Given the description of an element on the screen output the (x, y) to click on. 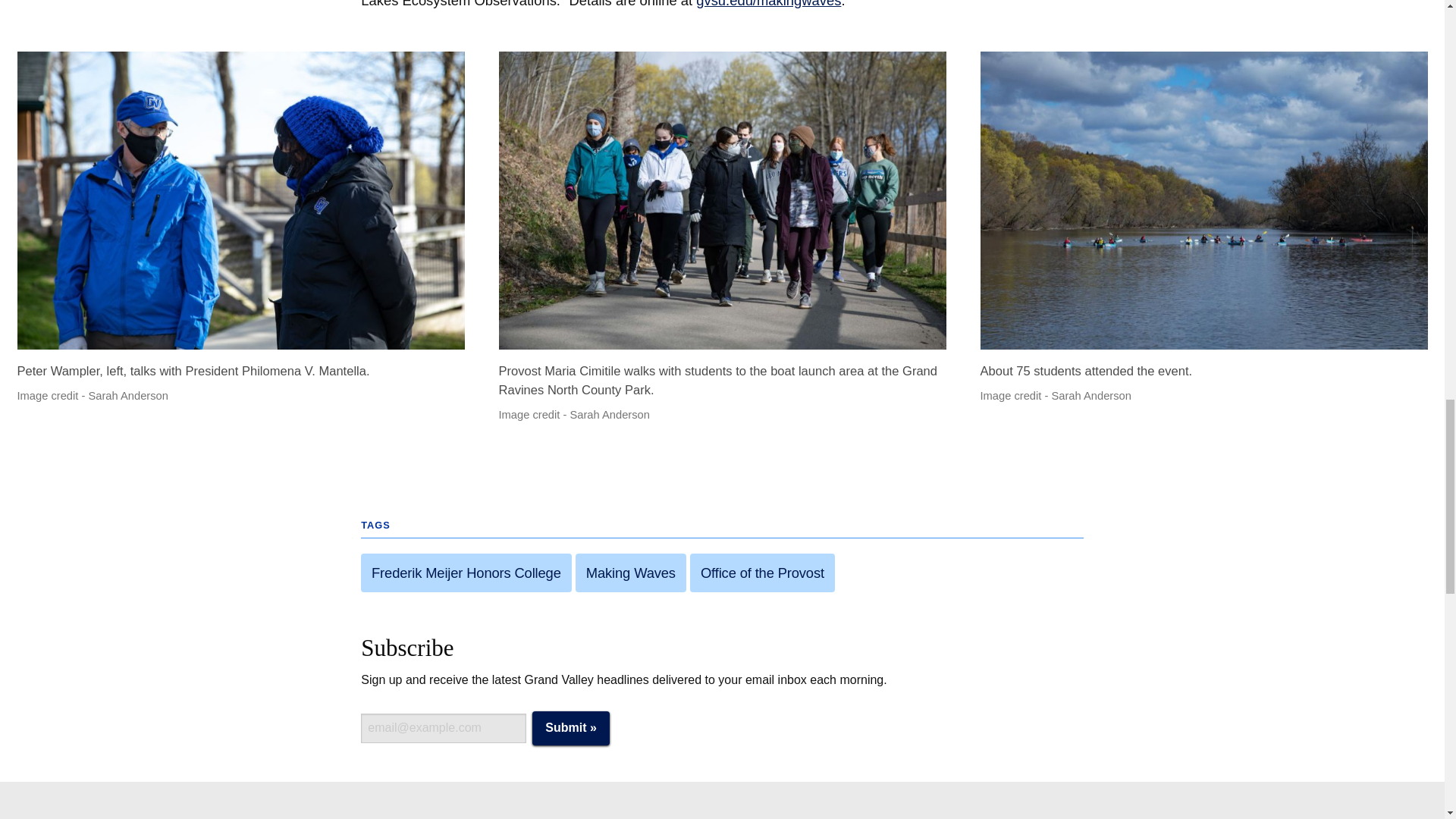
Frederik Meijer Honors College (465, 572)
Office of the Provost (762, 572)
Making Waves (630, 572)
